Given the description of an element on the screen output the (x, y) to click on. 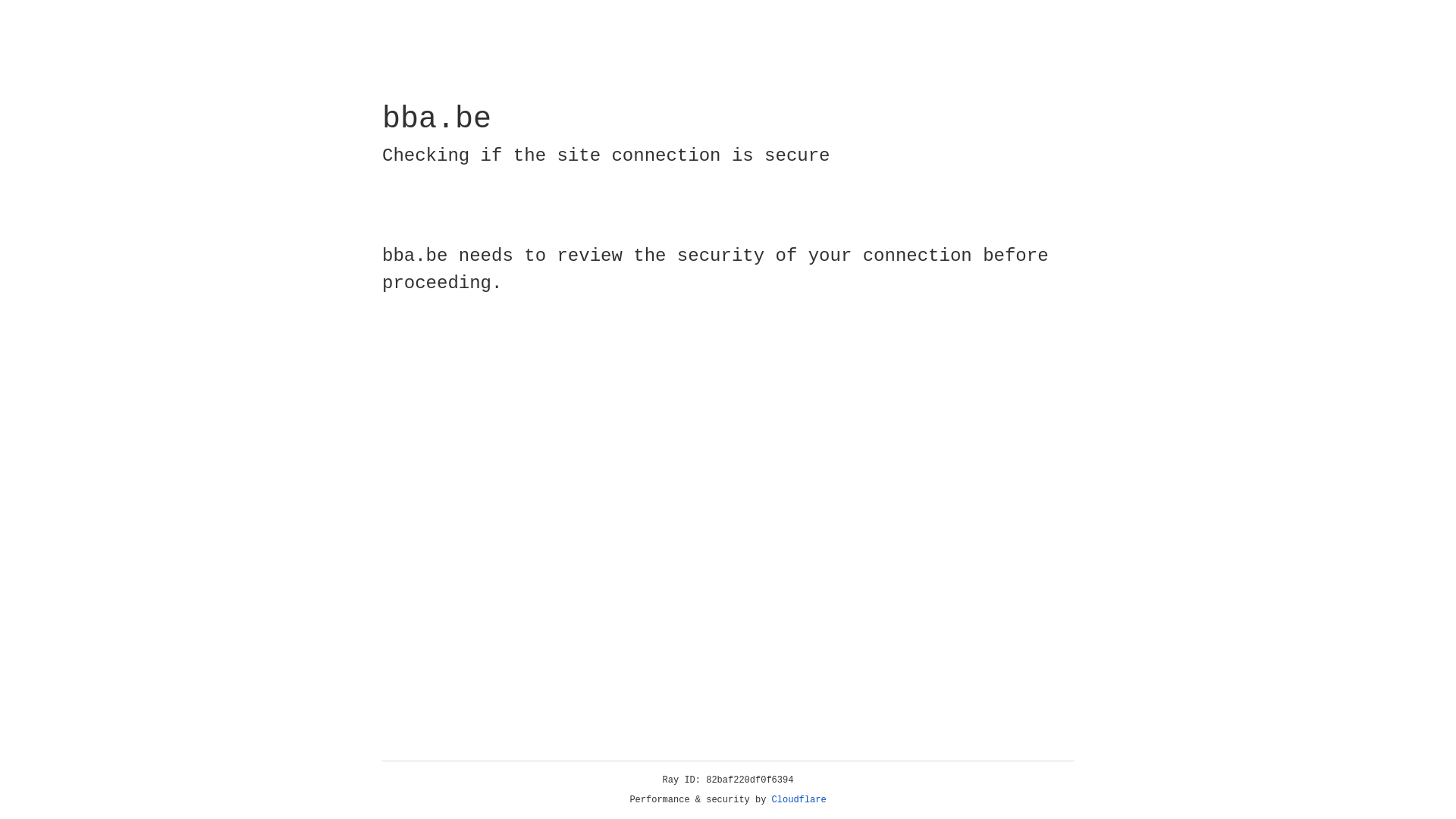
Cloudflare Element type: text (798, 799)
